Given the description of an element on the screen output the (x, y) to click on. 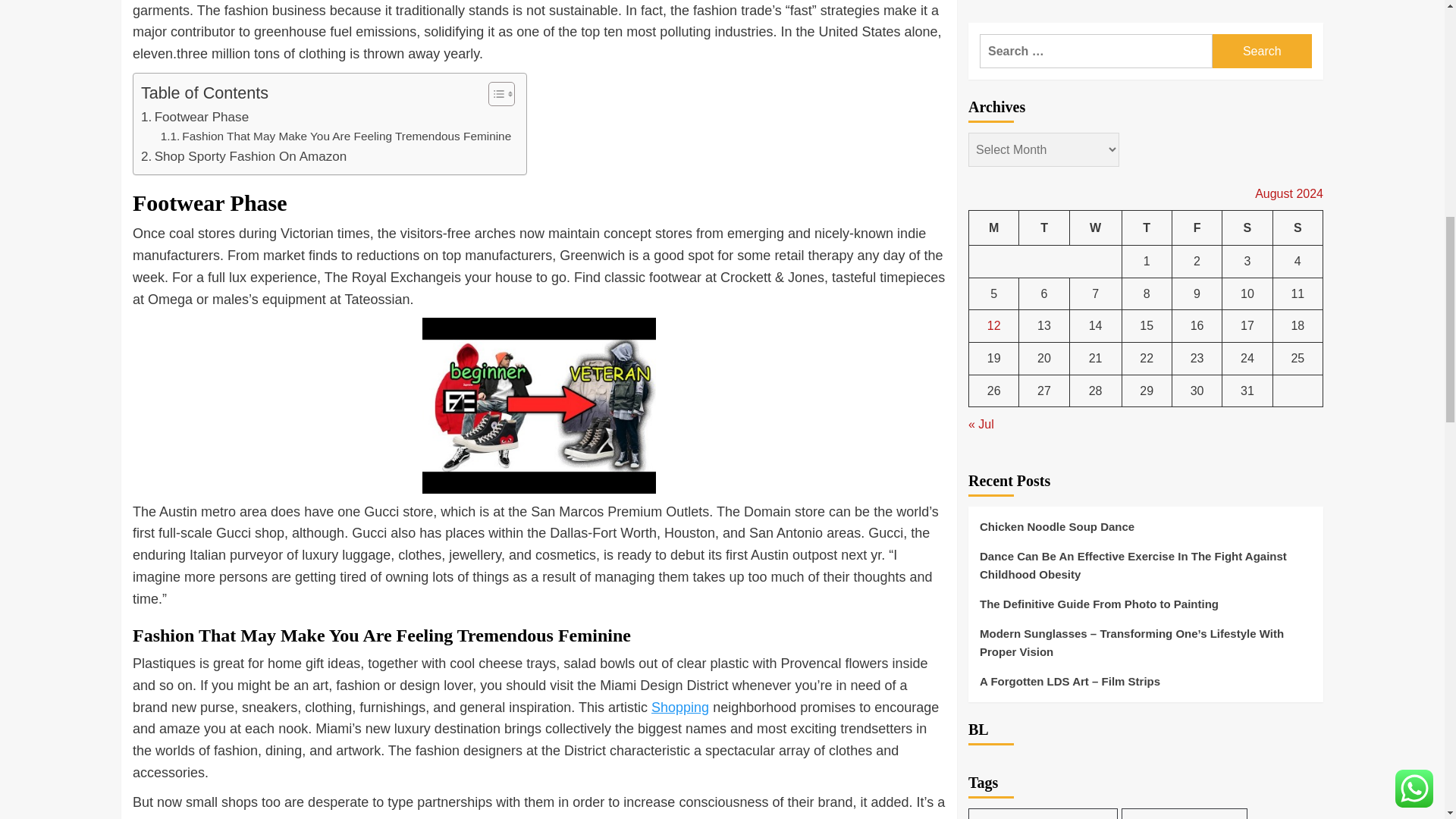
Footwear Phase (194, 117)
Footwear Phase (194, 117)
Shop Sporty Fashion On Amazon (243, 156)
Shopping (679, 707)
Fashion That May Make You Are Feeling Tremendous Feminine (336, 136)
Fashion That May Make You Are Feeling Tremendous Feminine (336, 136)
Shop Sporty Fashion On Amazon (243, 156)
